Given the description of an element on the screen output the (x, y) to click on. 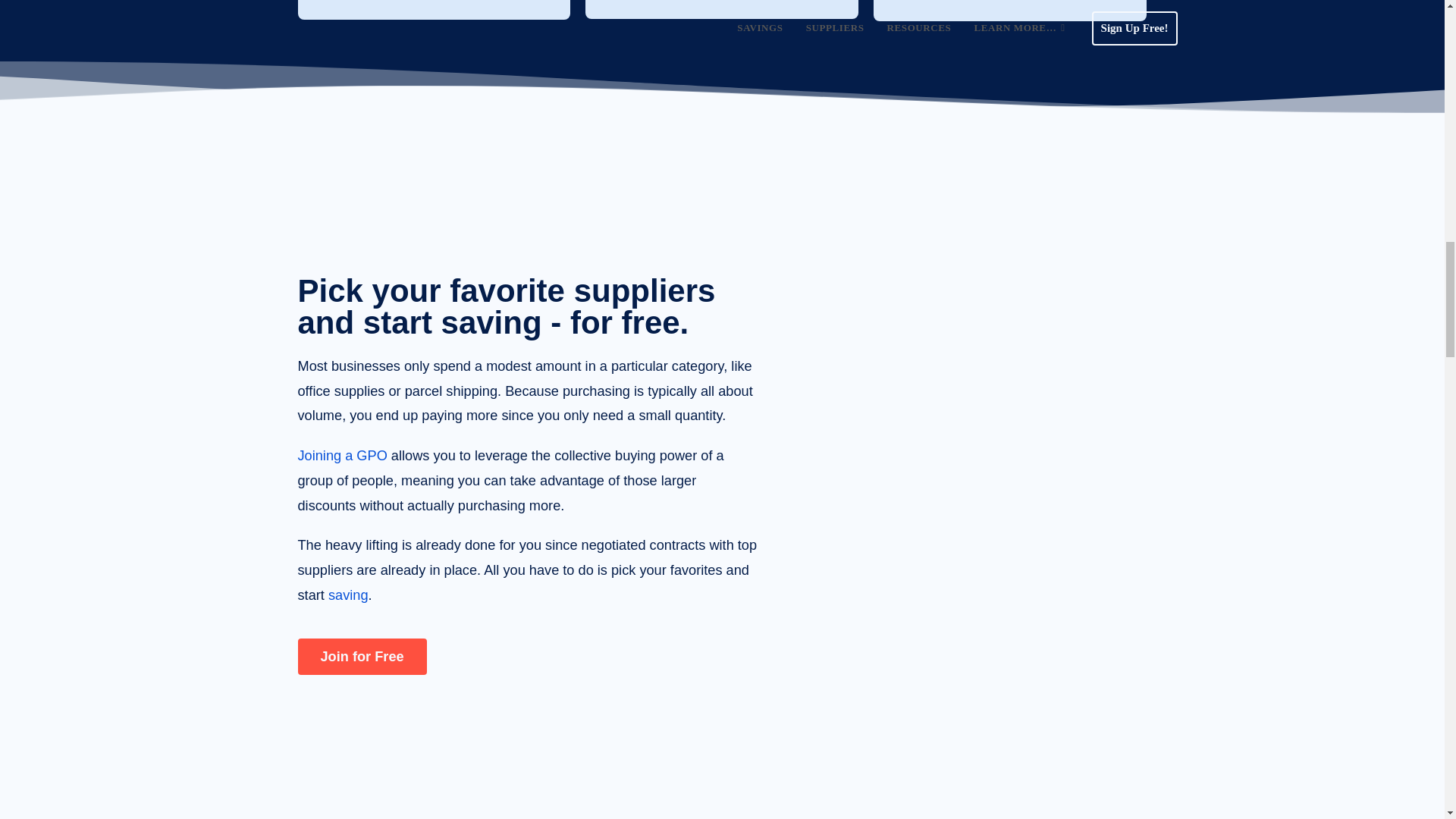
Page 5 (527, 480)
saving (348, 595)
Joining a GPO (342, 455)
Join for Free (361, 656)
